Given the description of an element on the screen output the (x, y) to click on. 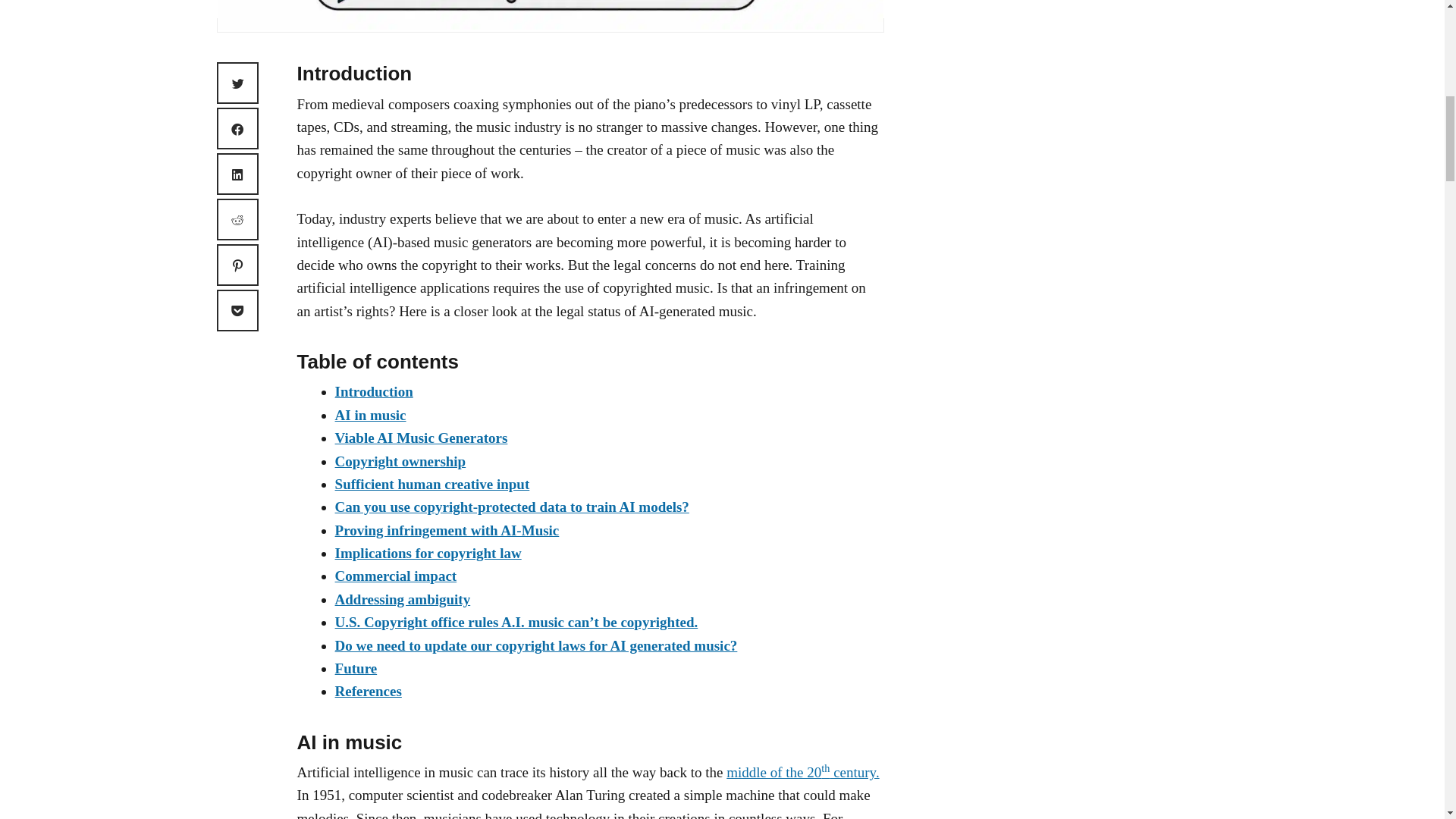
Can you use copyright-protected data to train AI models? (511, 506)
middle of the 20th century. (802, 772)
Copyright ownership (399, 461)
Introduction (373, 391)
Click to share on LinkedIn (237, 173)
Sufficient human creative input (431, 483)
References (367, 691)
Click to share on Twitter (237, 83)
Implications for copyright law (427, 553)
Click to share on Pinterest (237, 264)
